Given the description of an element on the screen output the (x, y) to click on. 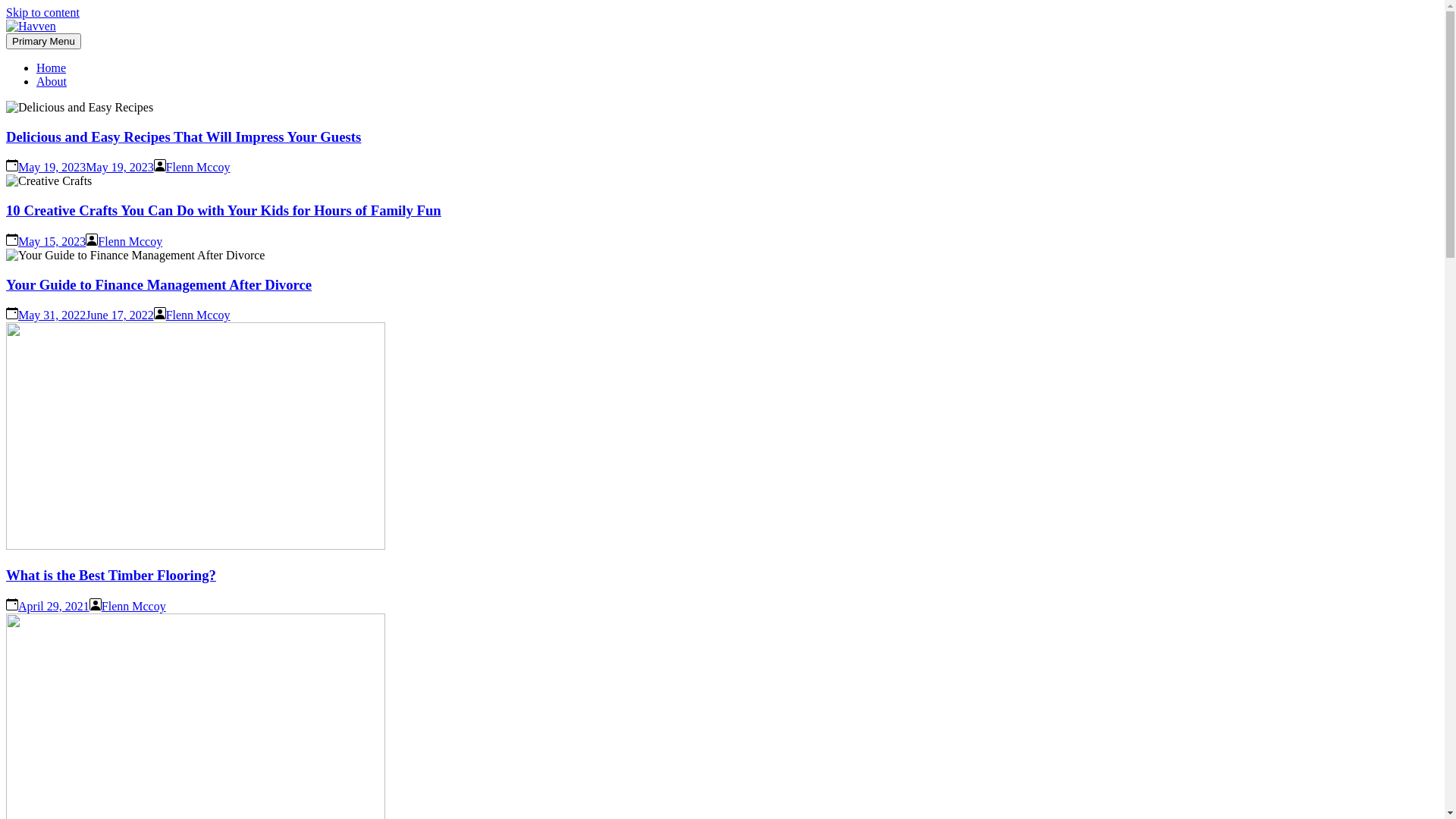
Flenn Mccoy Element type: text (133, 605)
Flenn Mccoy Element type: text (129, 241)
Your Guide to Finance Management After Divorce Element type: text (158, 284)
May 15, 2023 Element type: text (51, 241)
April 29, 2021 Element type: text (53, 605)
May 19, 2023May 19, 2023 Element type: text (85, 166)
May 31, 2022June 17, 2022 Element type: text (85, 314)
Home Element type: text (50, 67)
Skip to content Element type: text (42, 12)
Delicious and Easy Recipes That Will Impress Your Guests Element type: text (183, 136)
About Element type: text (51, 81)
What is the Best Timber Flooring? Element type: text (111, 575)
Flenn Mccoy Element type: text (198, 314)
Havven Element type: text (45, 62)
Primary Menu Element type: text (43, 41)
Flenn Mccoy Element type: text (198, 166)
